Given the description of an element on the screen output the (x, y) to click on. 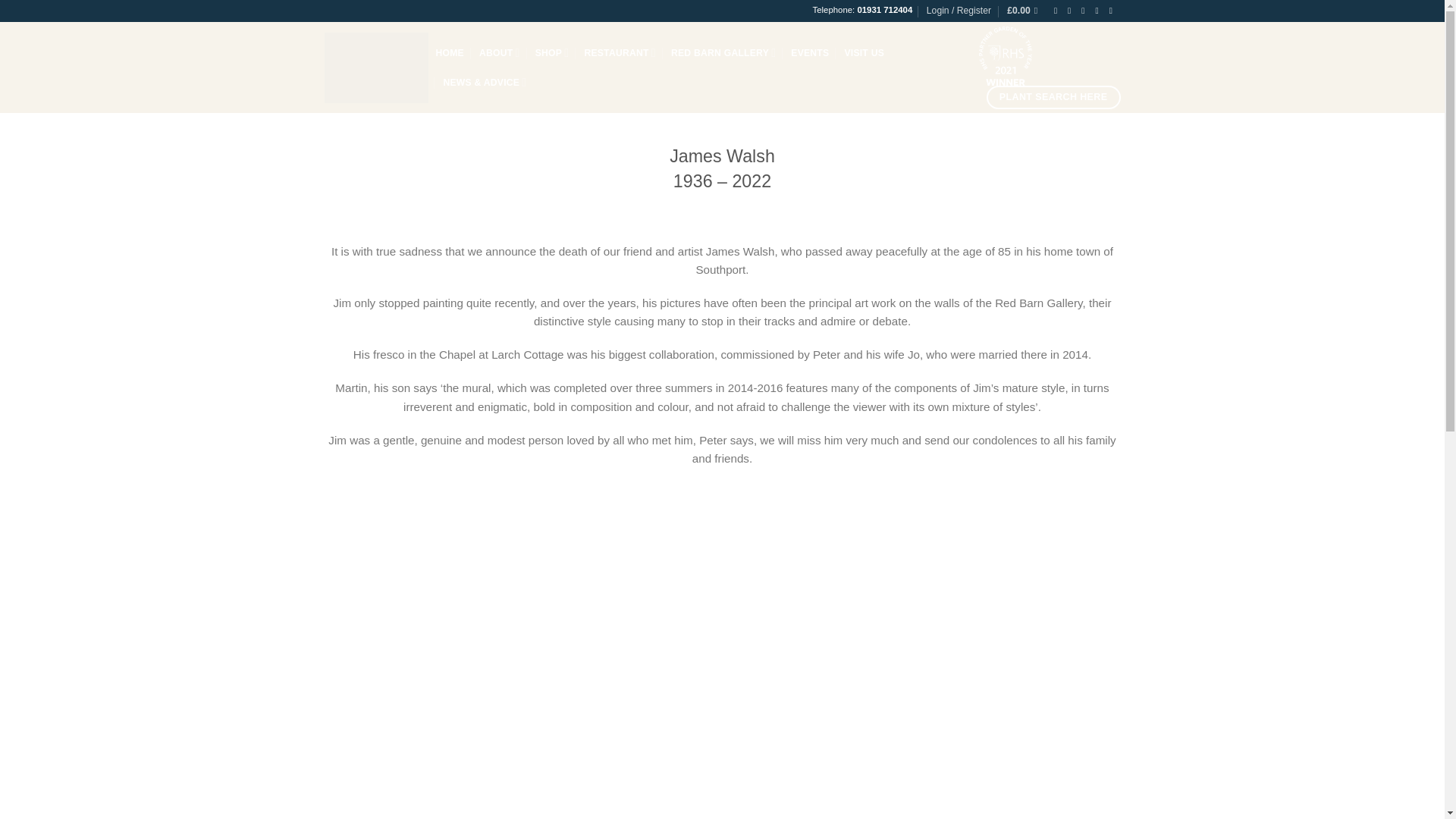
Follow on Facebook (1058, 10)
ABOUT (499, 52)
SHOP (552, 52)
Follow on Instagram (1071, 10)
Send us an email (1098, 10)
RED BARN GALLERY (723, 52)
Basket (1025, 11)
VISIT US (863, 52)
Larch Cottage Nurseries - Larch Cottage Nurseries (376, 67)
Follow on Twitter (1085, 10)
HOME (449, 52)
RESTAURANT (619, 52)
EVENTS (809, 52)
Follow on Pinterest (1113, 10)
